Given the description of an element on the screen output the (x, y) to click on. 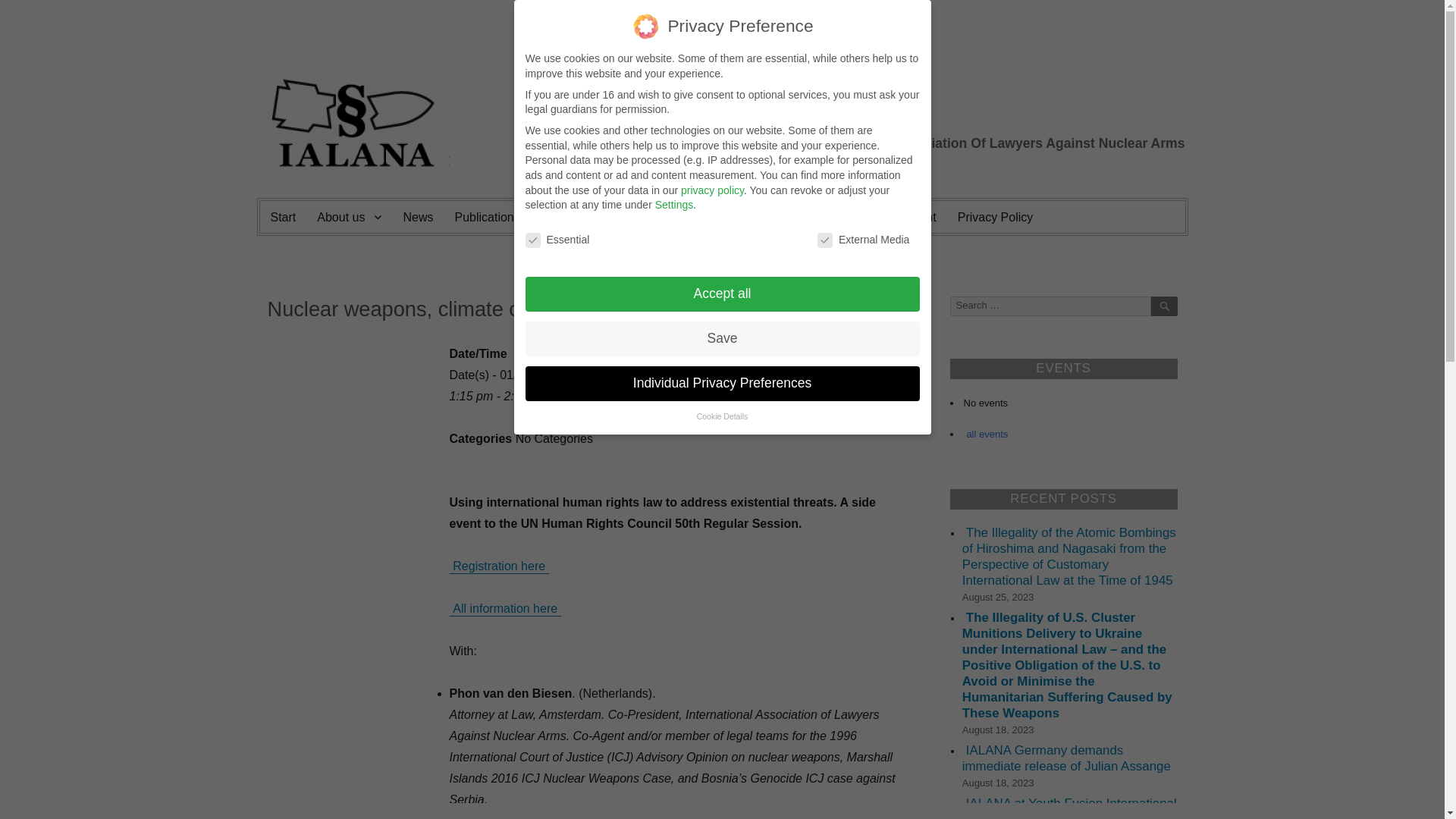
Start (282, 216)
Publications (486, 216)
all events (986, 432)
Projects (571, 216)
About us (348, 216)
News (417, 216)
From our affiliates (821, 216)
Archive (714, 216)
Contact (643, 216)
